Given the description of an element on the screen output the (x, y) to click on. 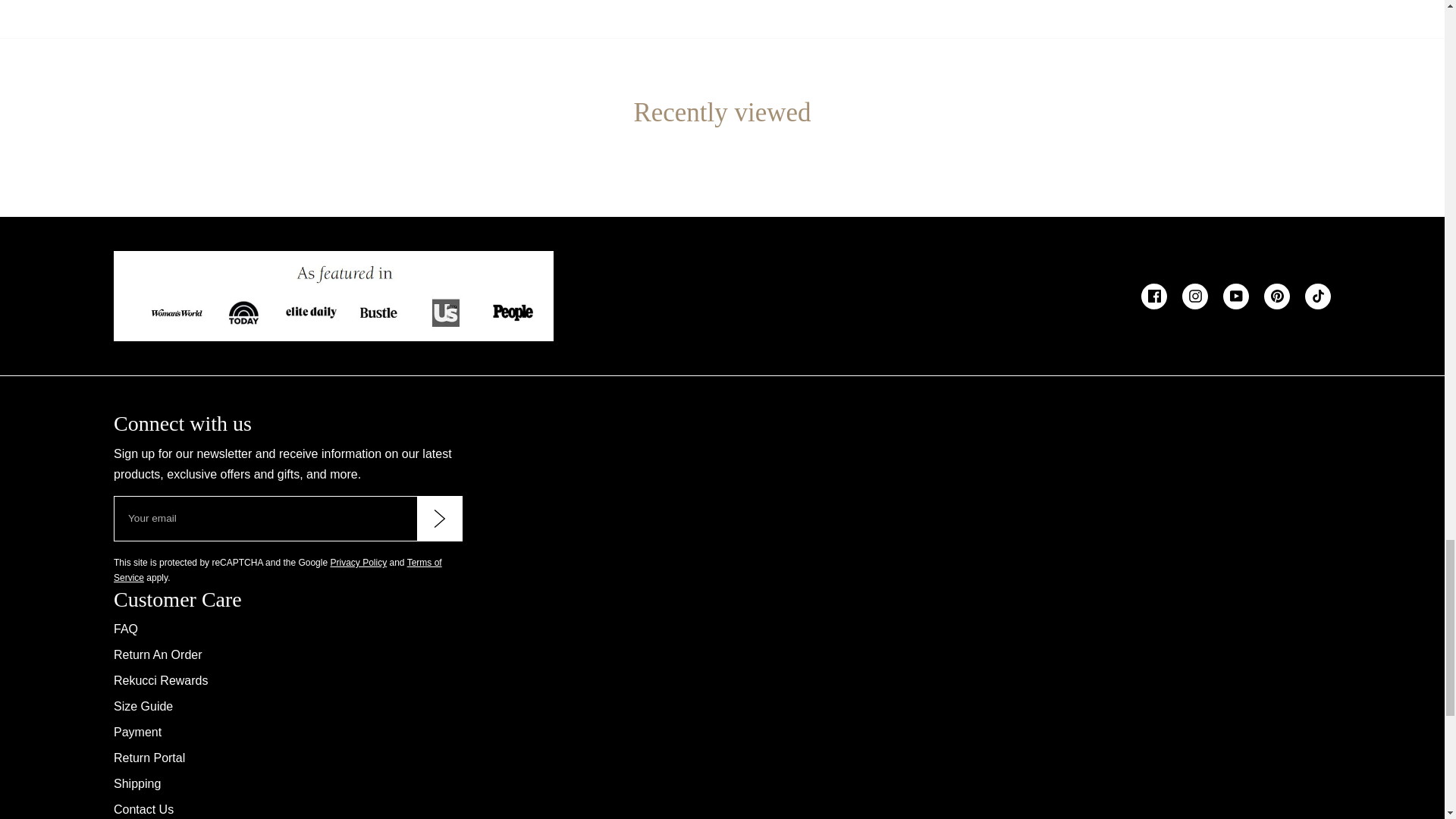
Terms and Conditions (277, 570)
Rekucci on Instagram (1195, 296)
Rekucci on Facebook (1154, 296)
Rekucci on YouTube (1236, 296)
Rekucci on TikTok (1317, 296)
Privacy Policy (358, 562)
Rekucci on Pinterest (1276, 296)
